Given the description of an element on the screen output the (x, y) to click on. 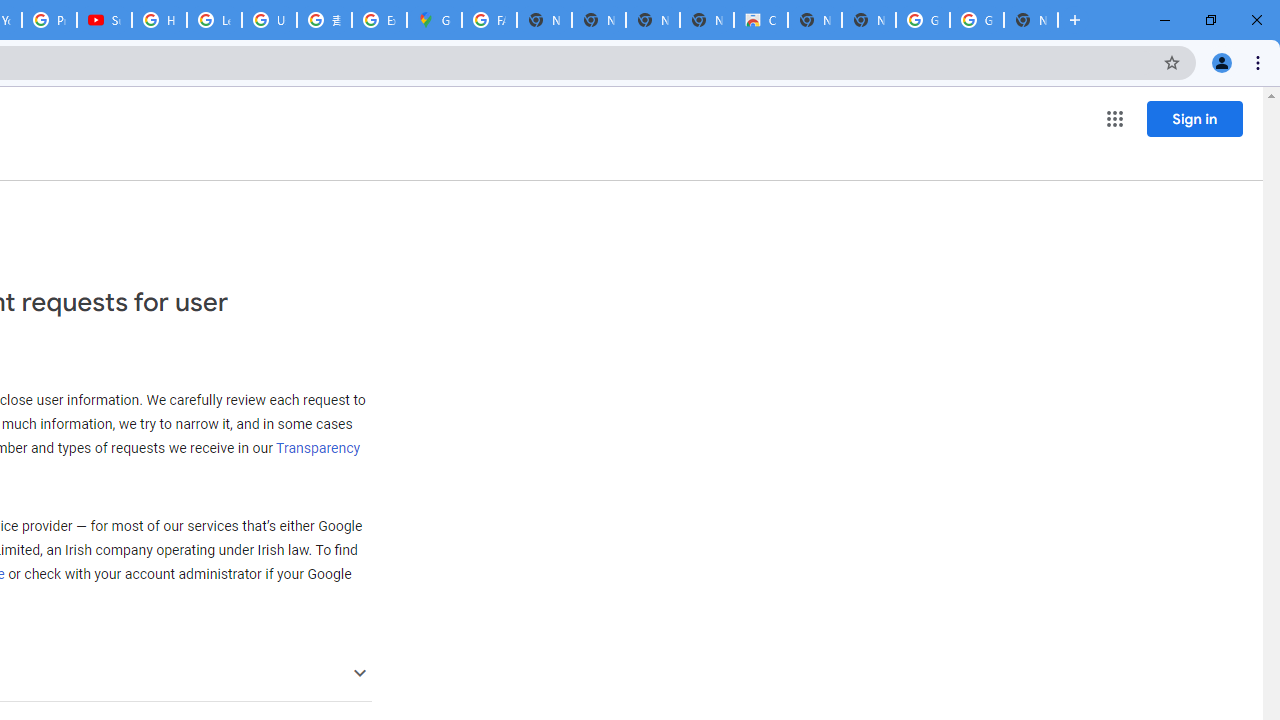
New Tab (1030, 20)
Subscriptions - YouTube (103, 20)
